Given the description of an element on the screen output the (x, y) to click on. 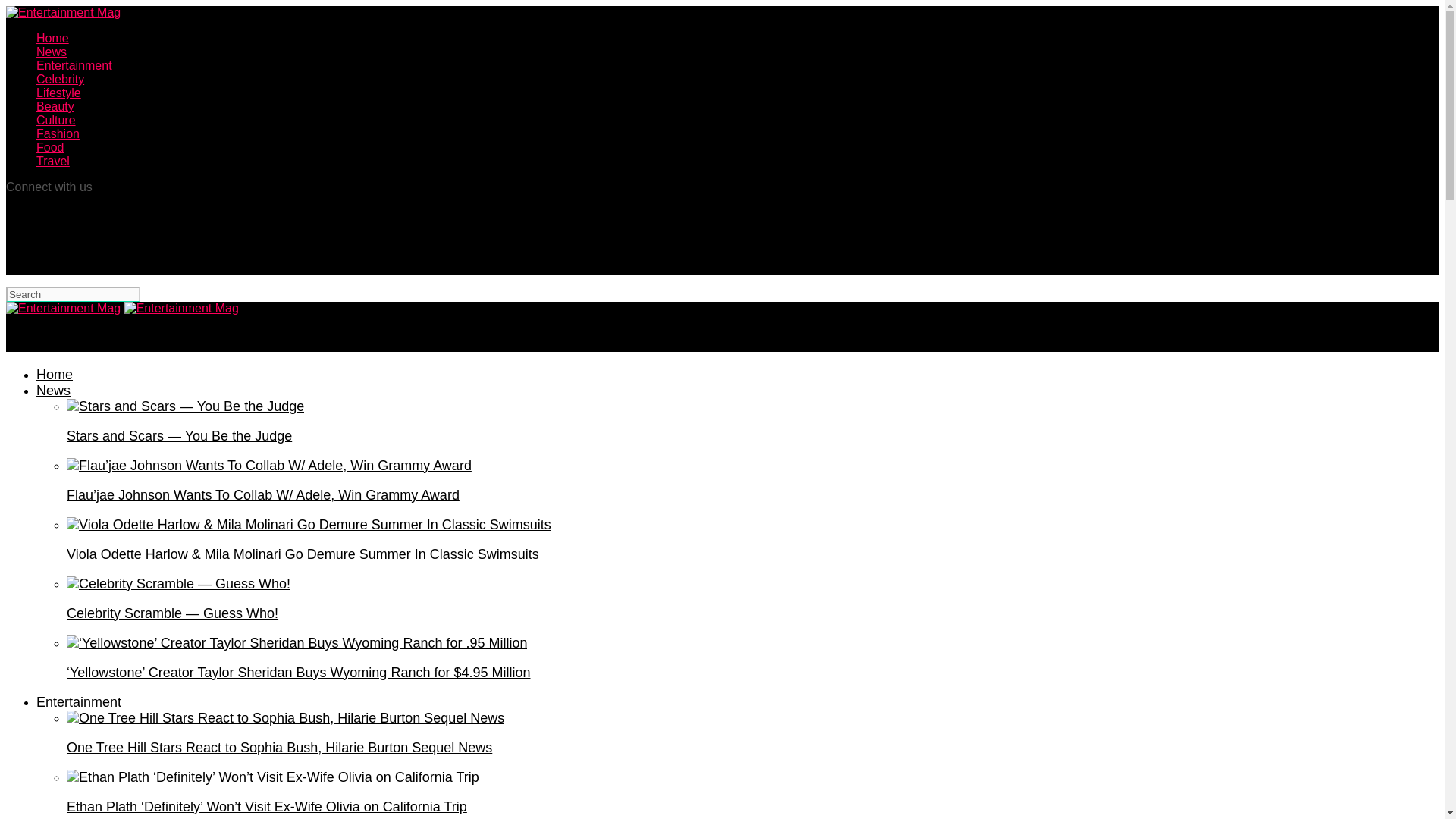
Travel (52, 160)
Fashion (58, 133)
Entertainment (74, 65)
Culture (55, 119)
News (51, 51)
Home (54, 374)
Search (72, 294)
Celebrity (60, 78)
Food (50, 146)
